Given the description of an element on the screen output the (x, y) to click on. 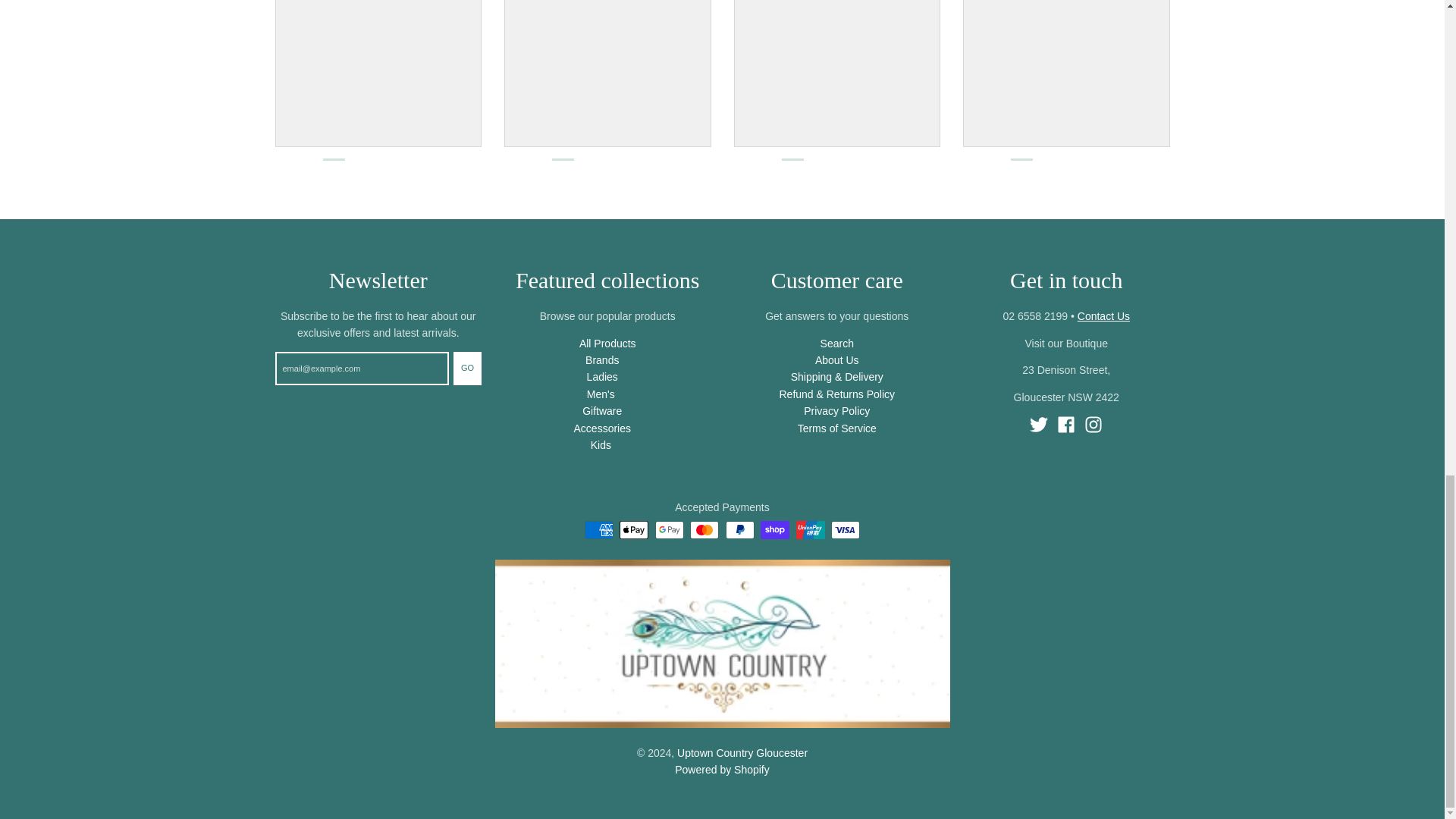
Twitter - Uptown Country Gloucester (1038, 424)
Instagram - Uptown Country Gloucester (1093, 424)
Facebook - Uptown Country Gloucester (1066, 424)
